Given the description of an element on the screen output the (x, y) to click on. 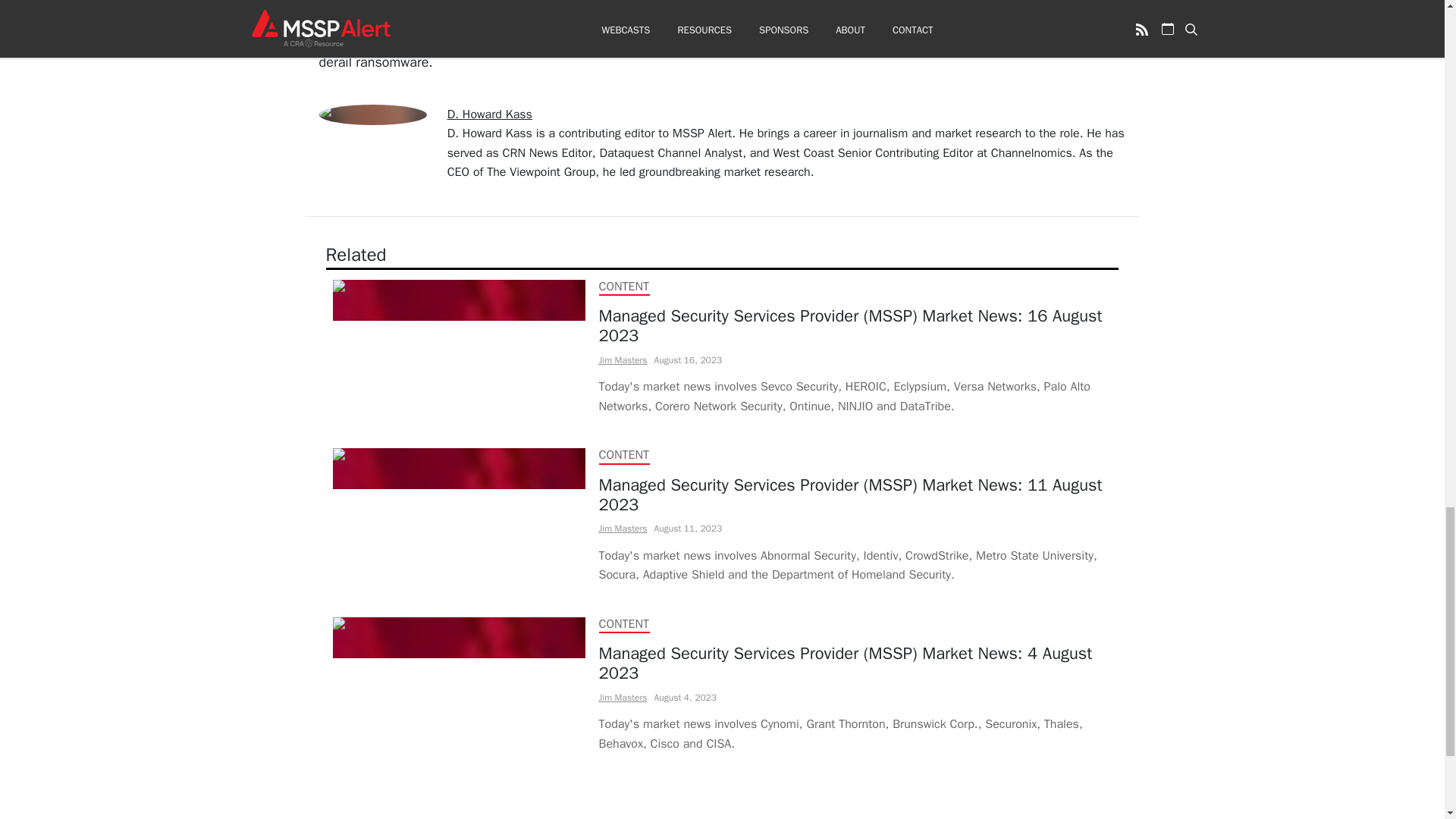
Jim Masters (622, 528)
D. Howard Kass (489, 114)
CONTENT (623, 623)
CONTENT (623, 286)
Jim Masters (622, 697)
Jim Masters (622, 359)
CONTENT (623, 454)
